Given the description of an element on the screen output the (x, y) to click on. 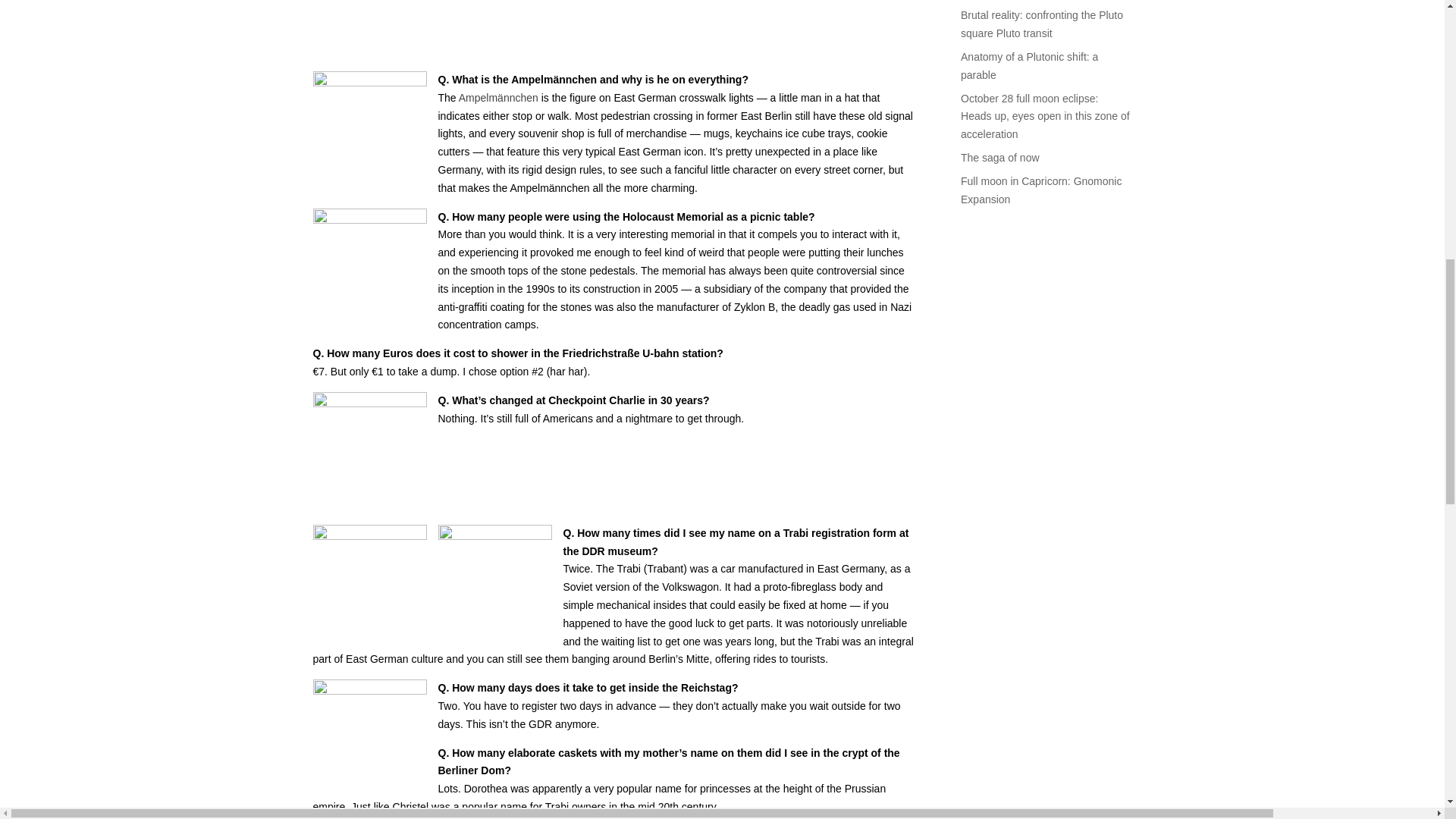
Brutal reality: confronting the Pluto square Pluto transit (1041, 24)
trabi (369, 581)
Anatomy of a Plutonic shift: a parable (1028, 65)
Full moon in Capricorn: Gnomonic Expansion (1040, 190)
220px-Ampelmaenner (369, 128)
predator (494, 17)
christel-trabi (494, 581)
The saga of now (999, 157)
checkpoint-charlie (369, 449)
